Given the description of an element on the screen output the (x, y) to click on. 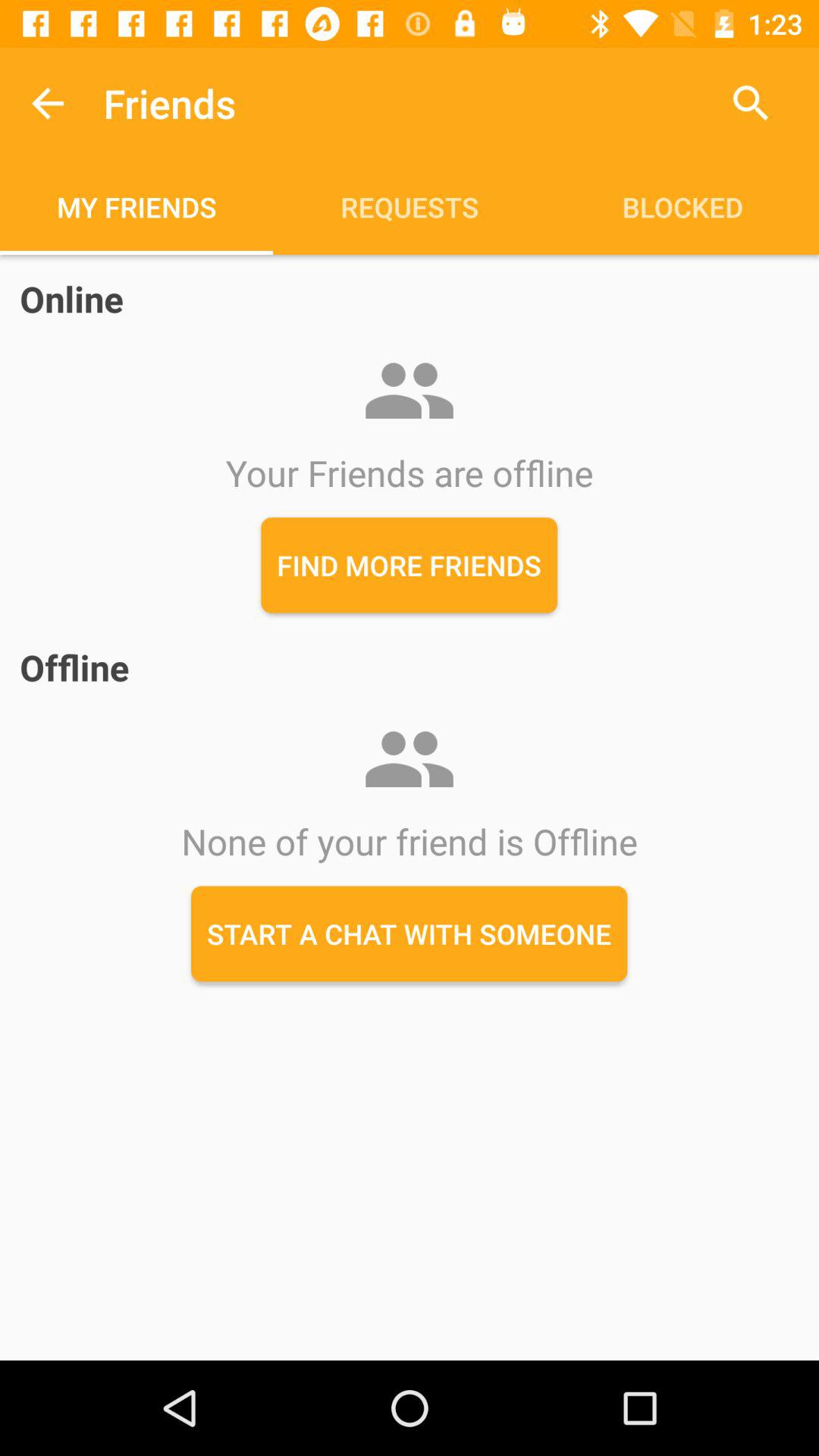
select item next to the friends item (751, 103)
